Given the description of an element on the screen output the (x, y) to click on. 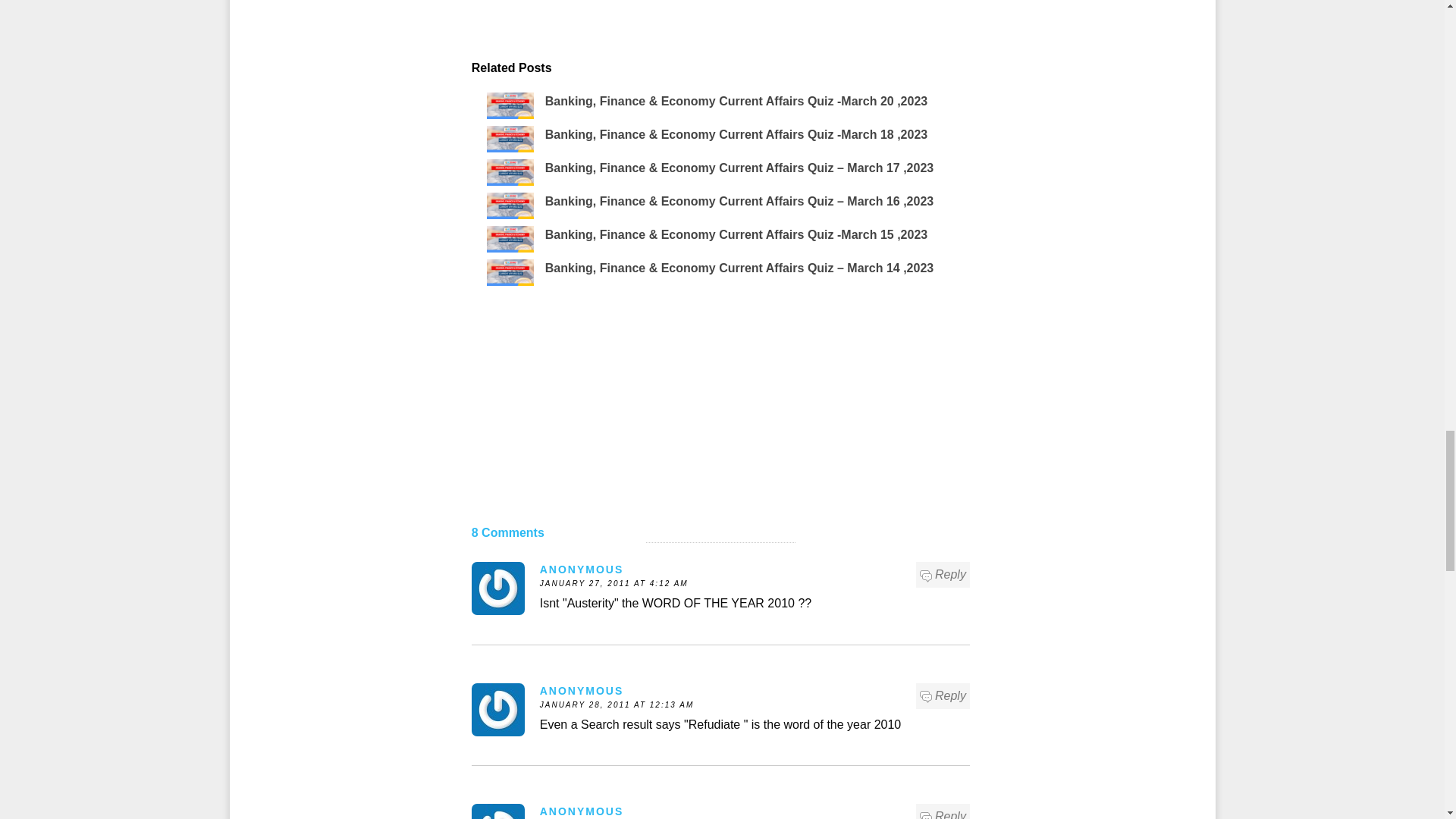
Reply (943, 813)
Reply (943, 696)
Reply (943, 574)
